Given the description of an element on the screen output the (x, y) to click on. 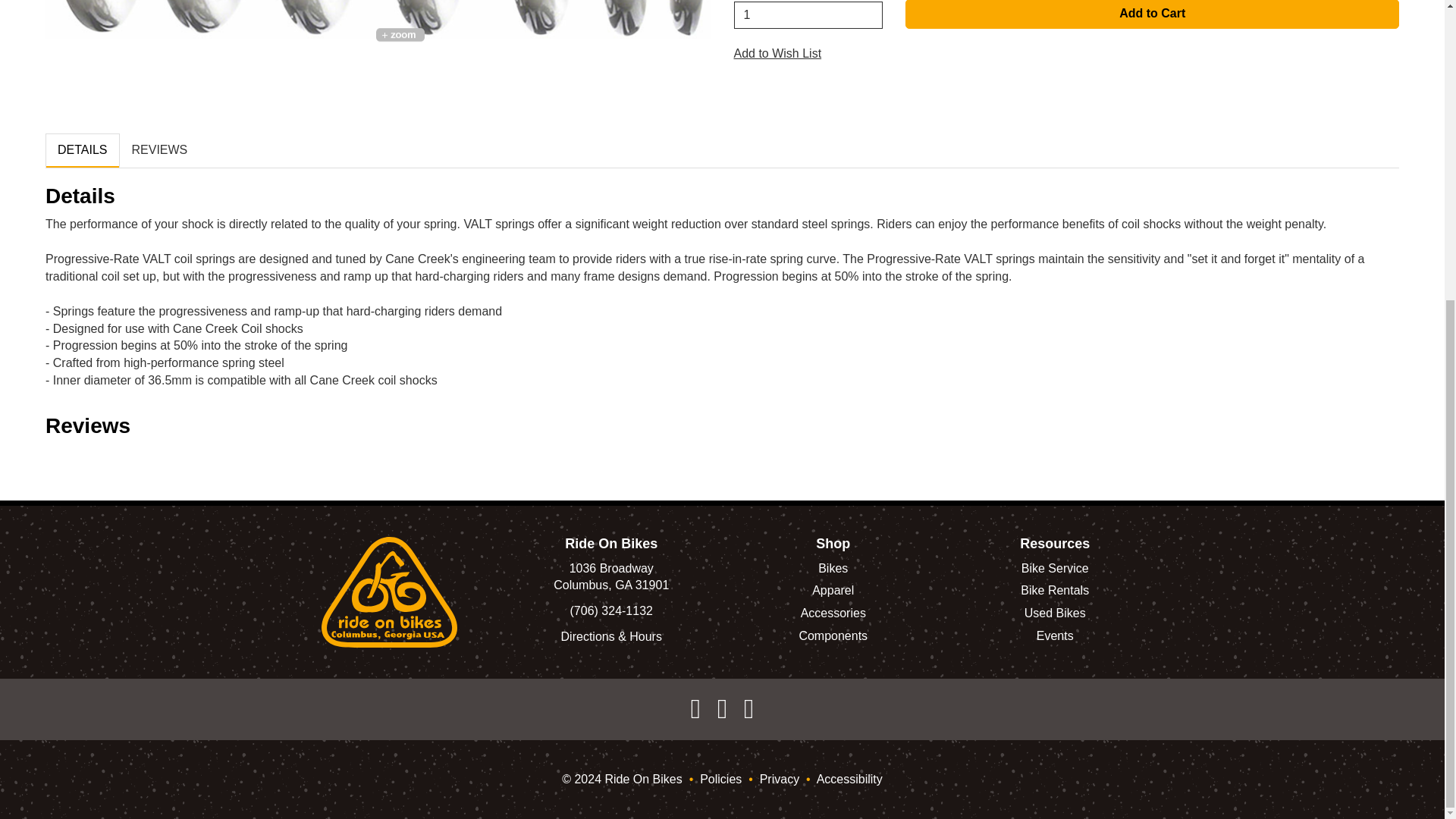
1 (808, 14)
